Given the description of an element on the screen output the (x, y) to click on. 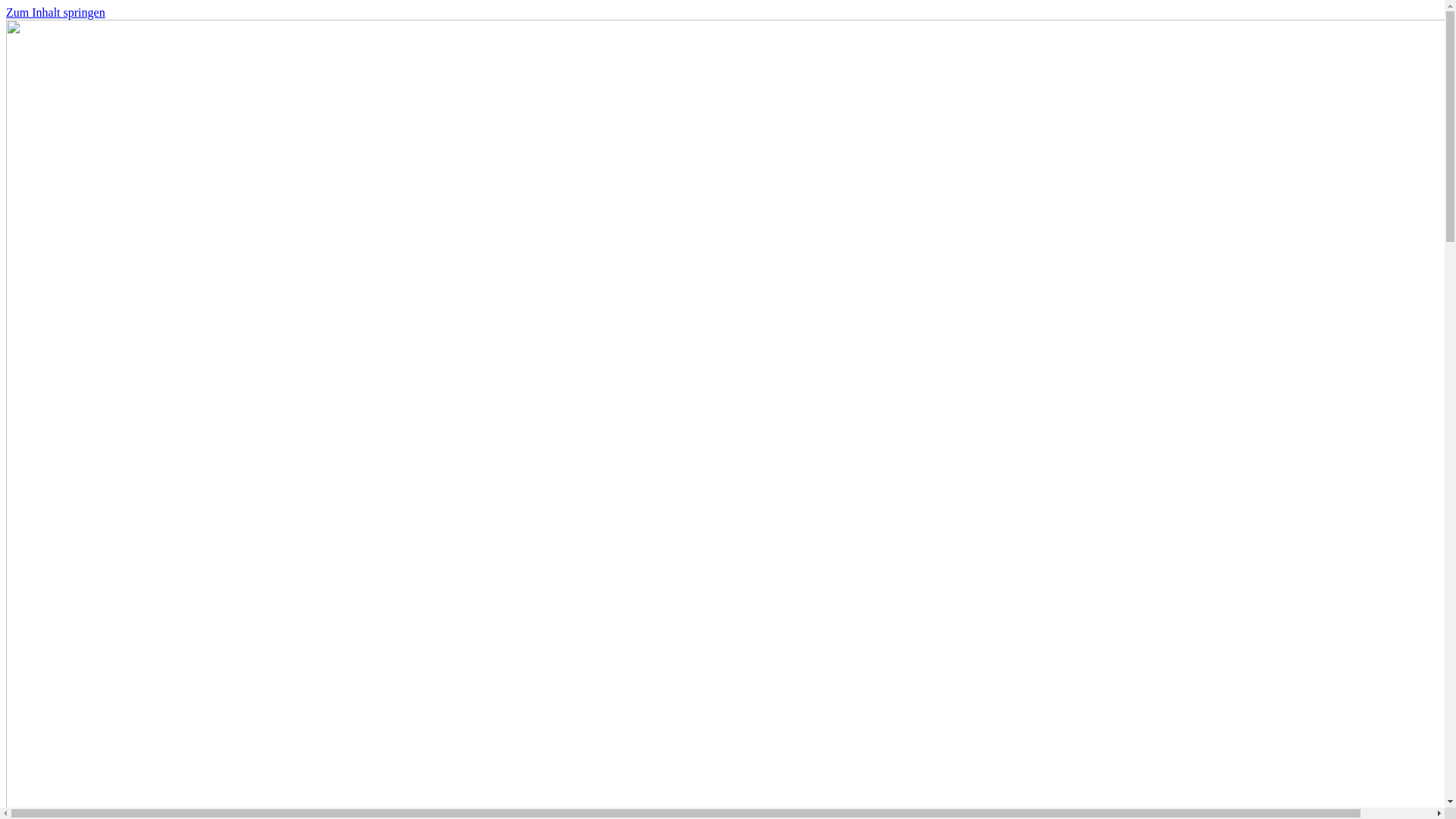
Zum Inhalt springen Element type: text (55, 12)
